Given the description of an element on the screen output the (x, y) to click on. 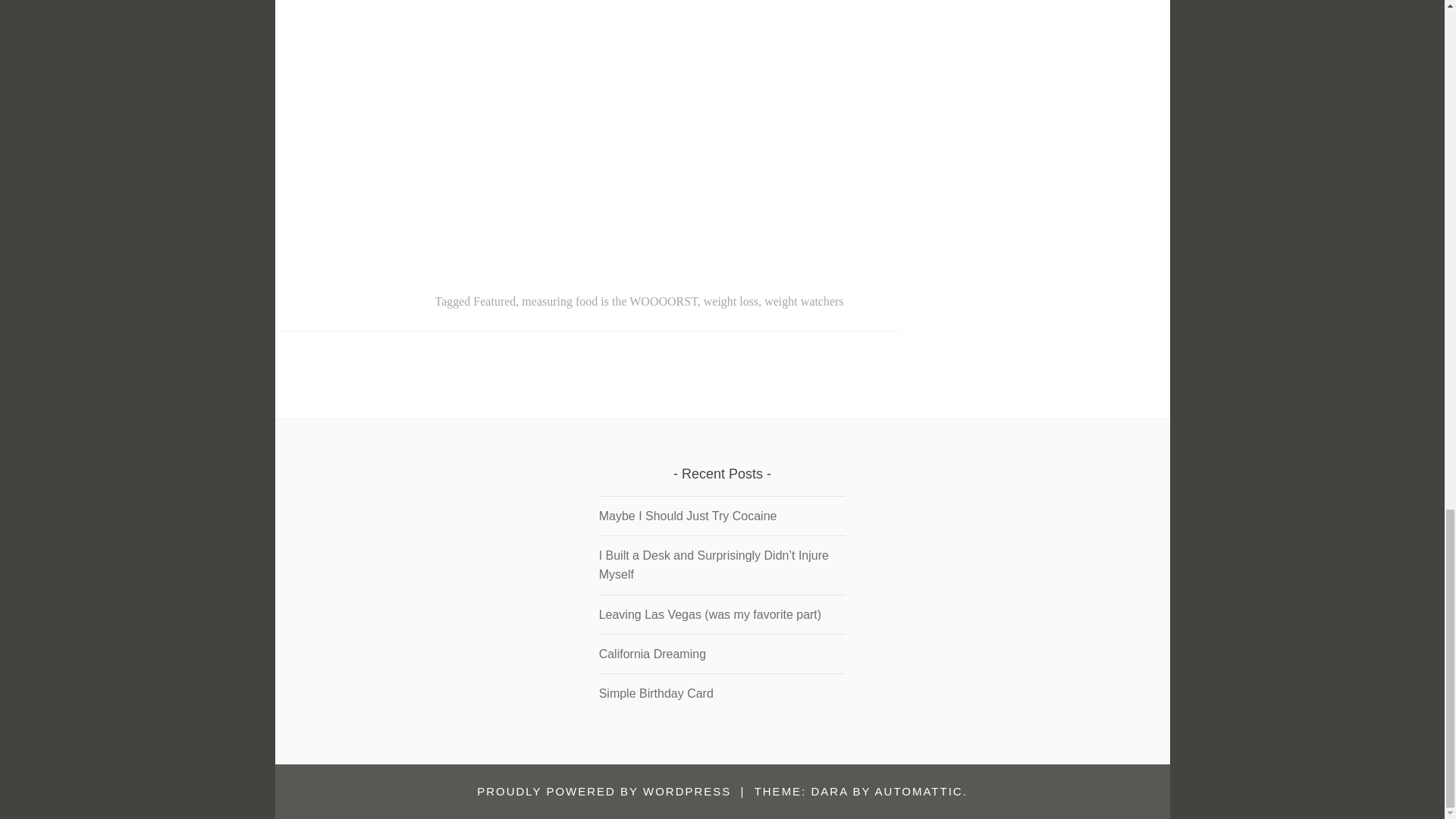
Featured (494, 300)
California Dreaming (652, 653)
Simple Birthday Card (655, 693)
Maybe I Should Just Try Cocaine (687, 515)
measuring food is the WOOOORST (609, 300)
weight watchers (803, 300)
weight loss (730, 300)
